Given the description of an element on the screen output the (x, y) to click on. 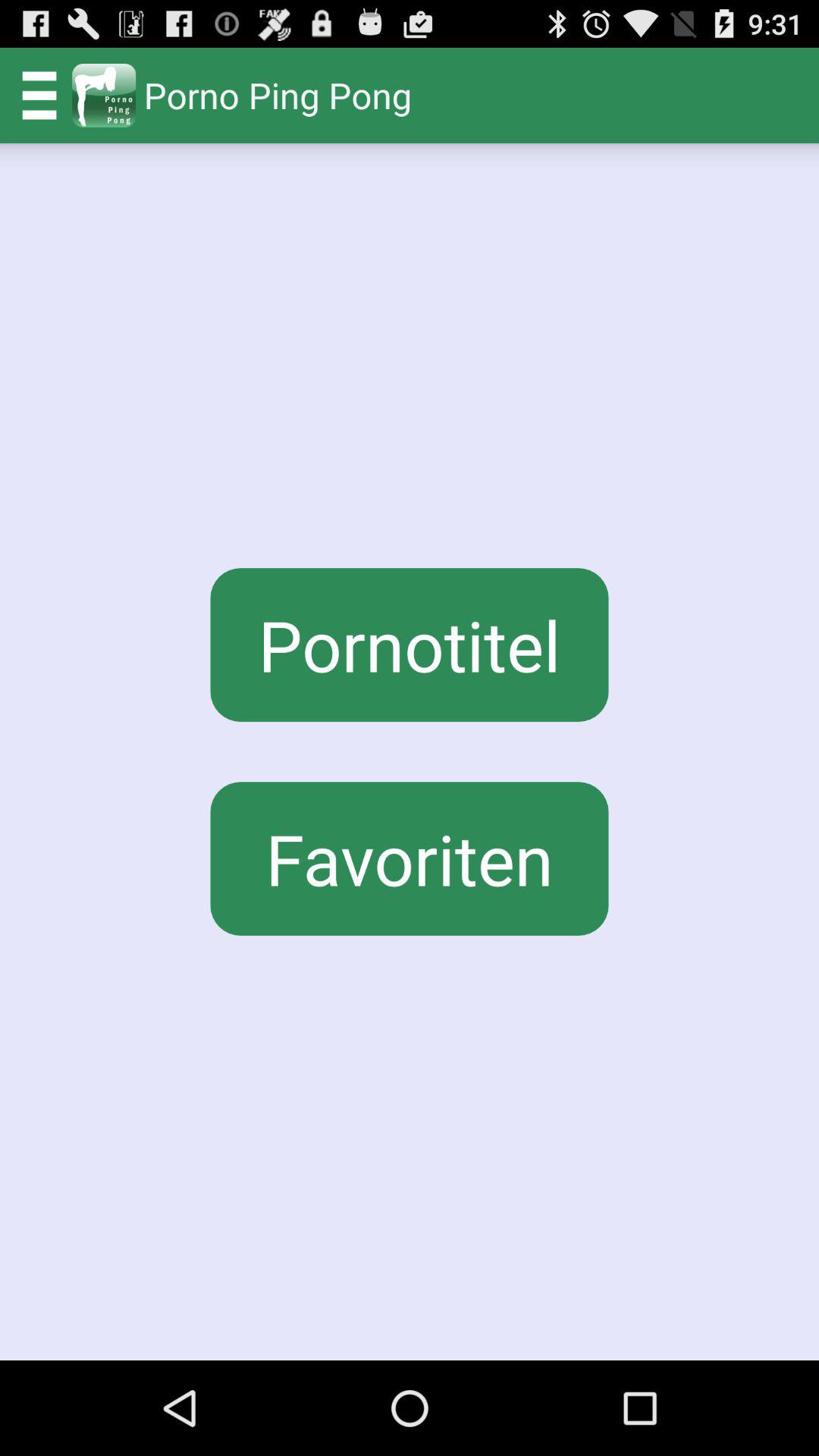
jump until pornotitel icon (409, 644)
